Given the description of an element on the screen output the (x, y) to click on. 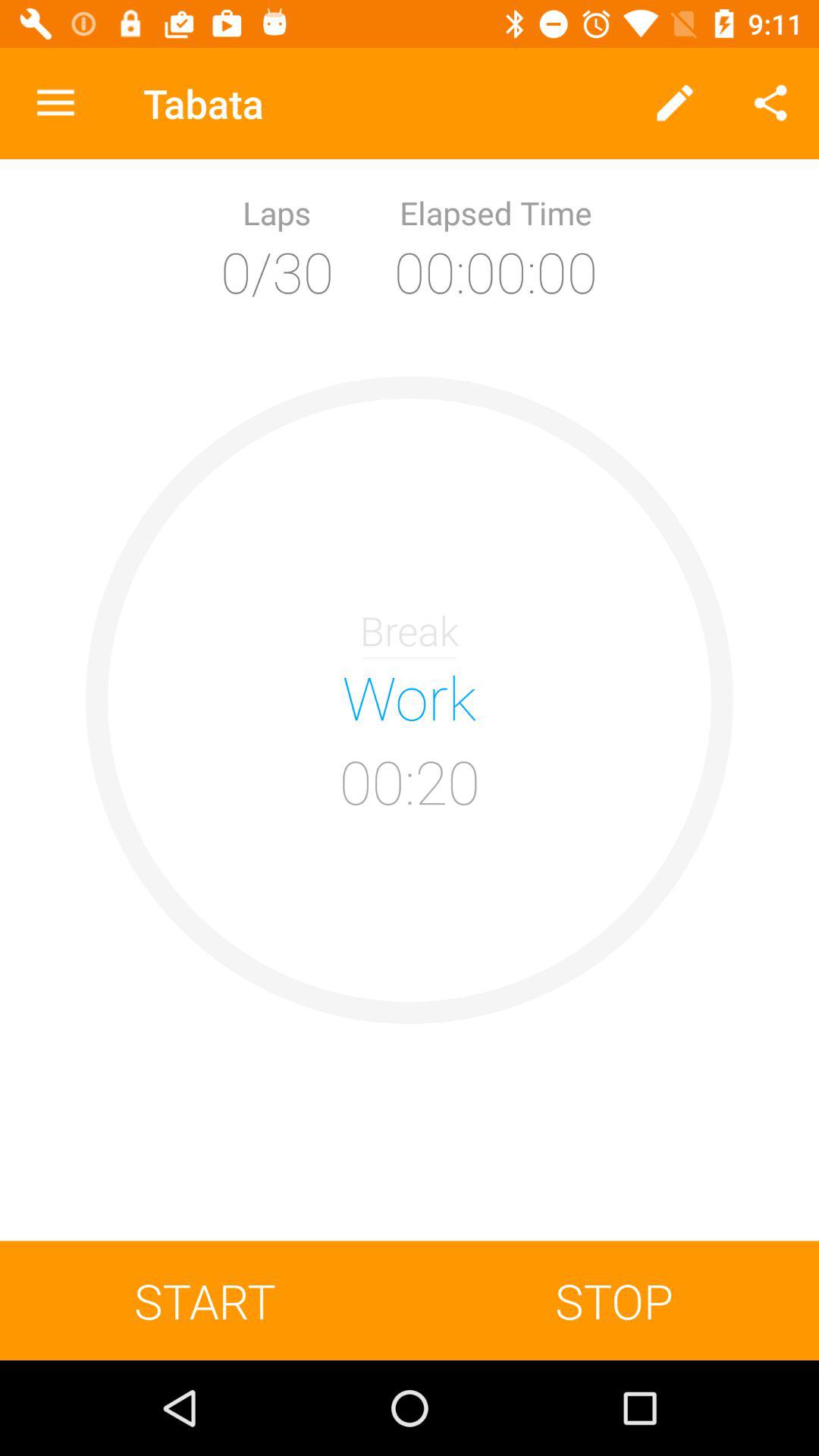
turn off item to the right of start (614, 1300)
